Given the description of an element on the screen output the (x, y) to click on. 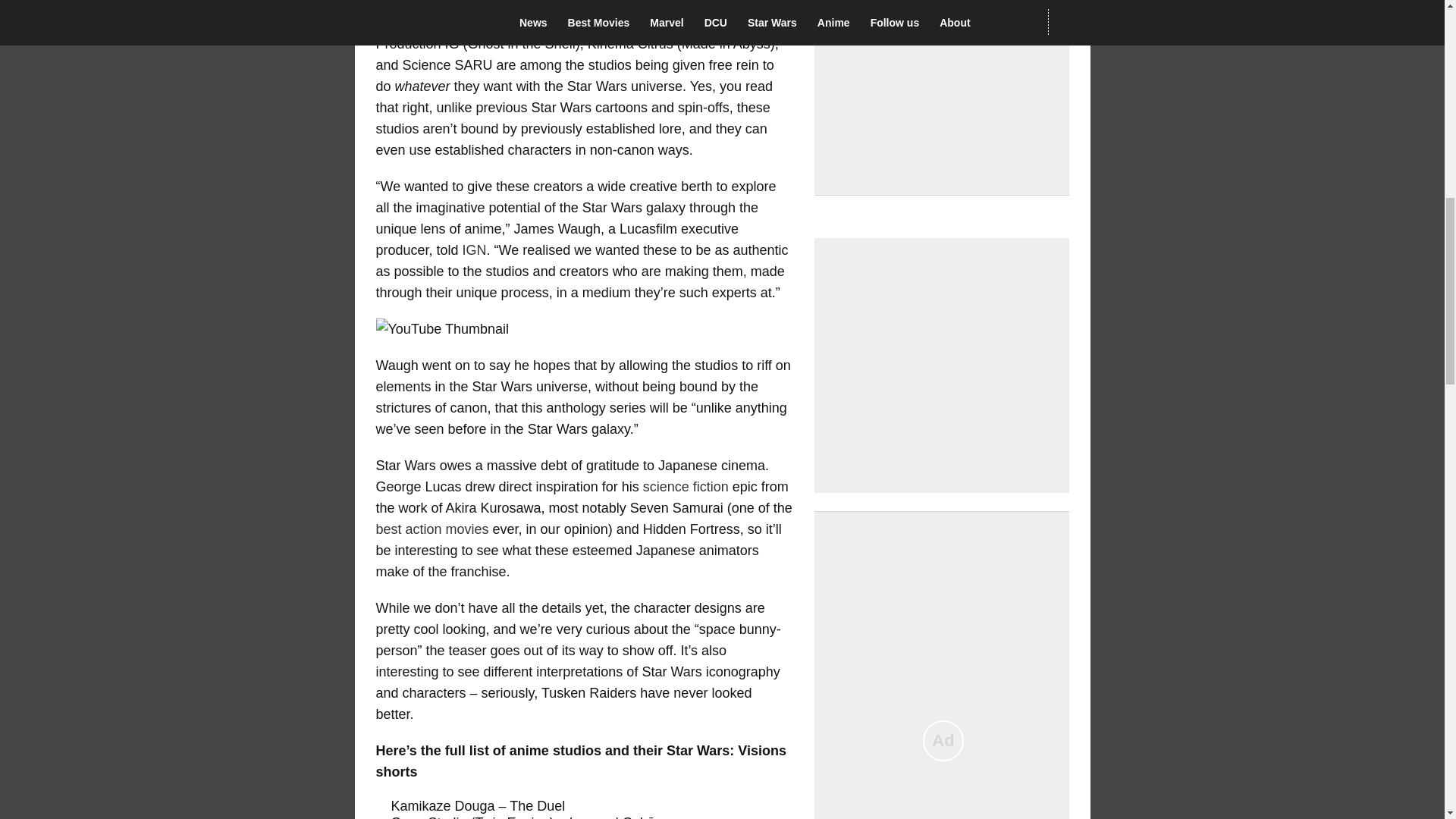
IGN (474, 249)
science fiction (686, 486)
best action movies (434, 529)
